Given the description of an element on the screen output the (x, y) to click on. 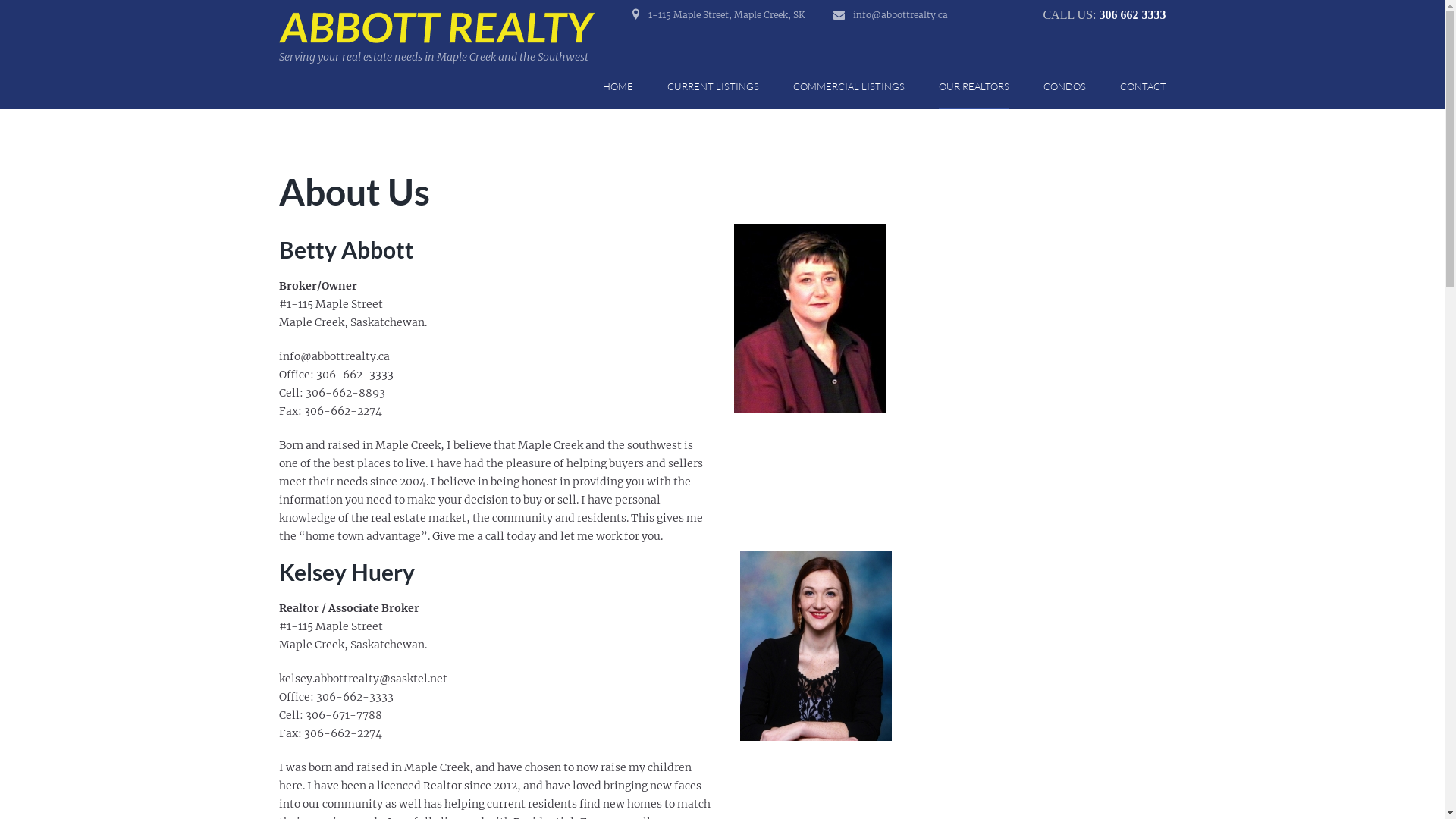
HOME Element type: text (617, 87)
CURRENT LISTINGS Element type: text (713, 87)
CONDOS Element type: text (1064, 87)
CONTACT Element type: text (1142, 87)
COMMERCIAL LISTINGS Element type: text (848, 87)
OUR REALTORS Element type: text (973, 87)
